Given the description of an element on the screen output the (x, y) to click on. 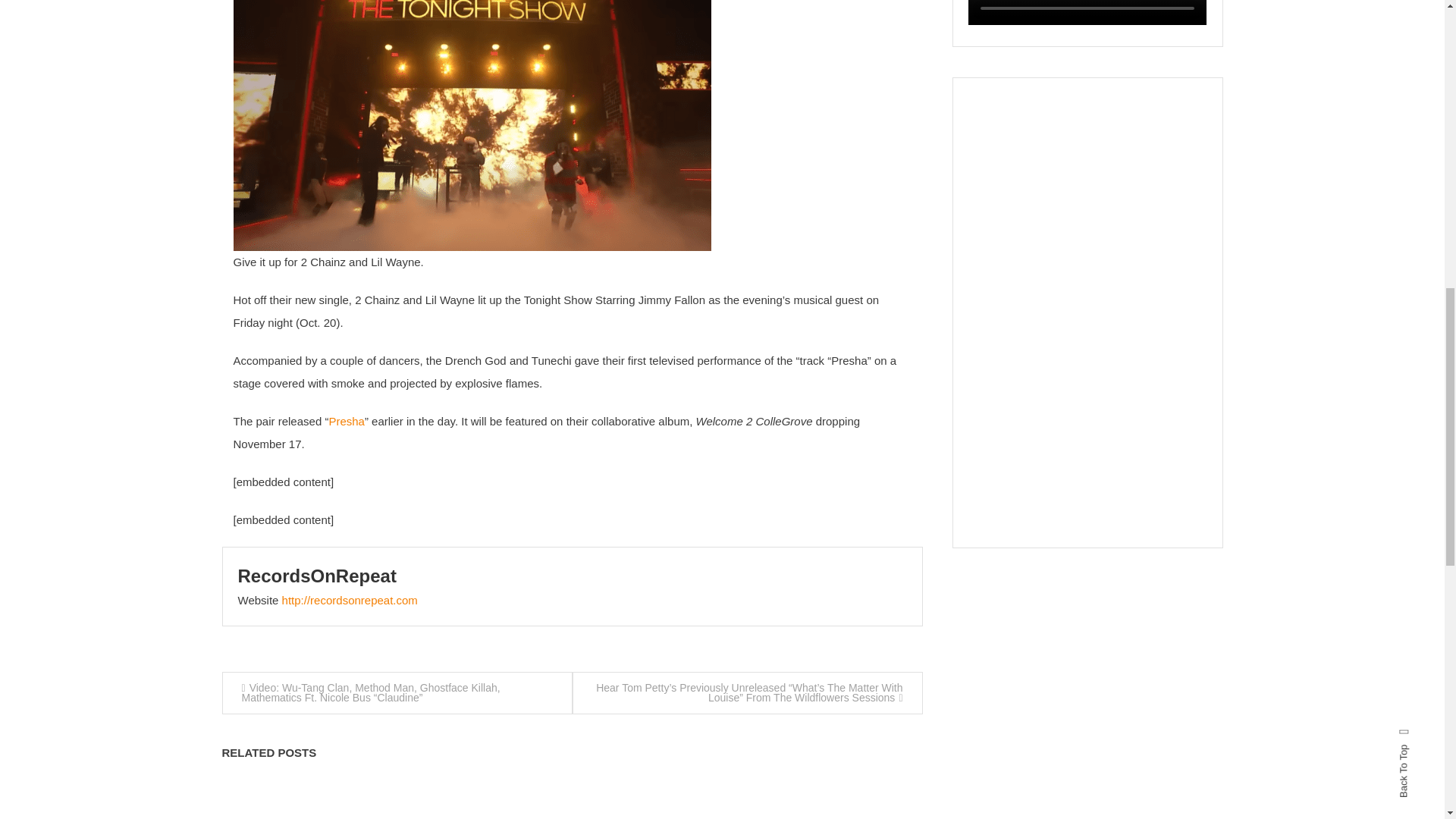
Presha (347, 420)
RecordsOnRepeat (317, 575)
Posts by RecordsOnRepeat (317, 575)
Follow on Facebook (1087, 20)
